Given the description of an element on the screen output the (x, y) to click on. 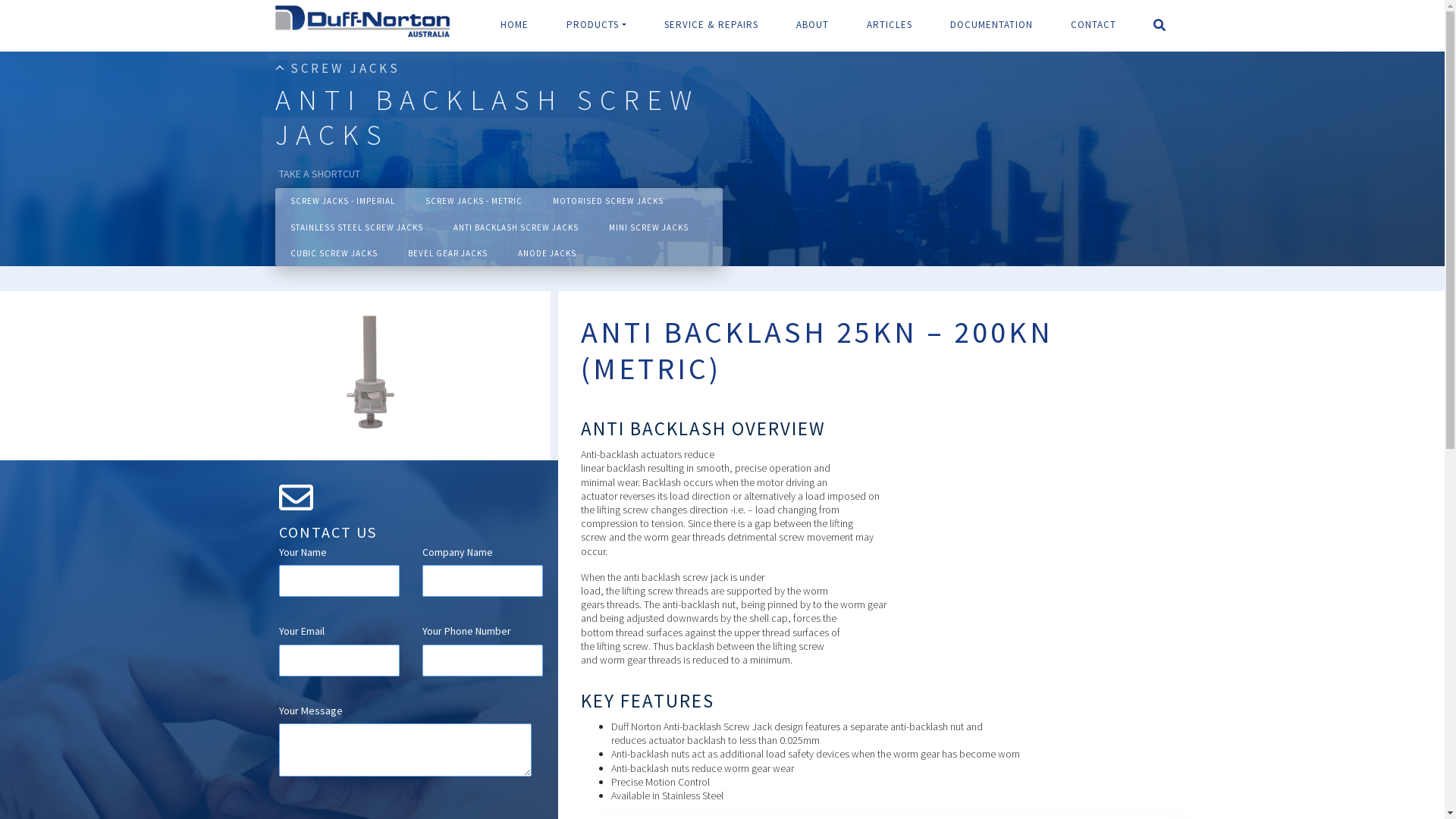
CUBIC SCREW JACKS Element type: text (332, 252)
SCREW JACKS - IMPERIAL Element type: text (341, 200)
ANODE JACKS Element type: text (546, 252)
ABOUT Element type: text (812, 25)
CONTACT Element type: text (1083, 25)
BEVEL GEAR JACKS Element type: text (447, 252)
CONTACT US Element type: text (410, 511)
ARTICLES Element type: text (889, 25)
MINI SCREW JACKS Element type: text (647, 227)
SERVICE & REPAIRS Element type: text (711, 25)
PRODUCTS Element type: text (595, 25)
STAINLESS STEEL SCREW JACKS Element type: text (355, 227)
ANTI BACKLASH SCREW JACKS Element type: text (515, 227)
SCREW JACKS - METRIC Element type: text (472, 200)
DOCUMENTATION Element type: text (991, 25)
HOME Element type: text (514, 25)
SCREW JACKS Element type: text (344, 67)
MOTORISED SCREW JACKS Element type: text (607, 200)
